Given the description of an element on the screen output the (x, y) to click on. 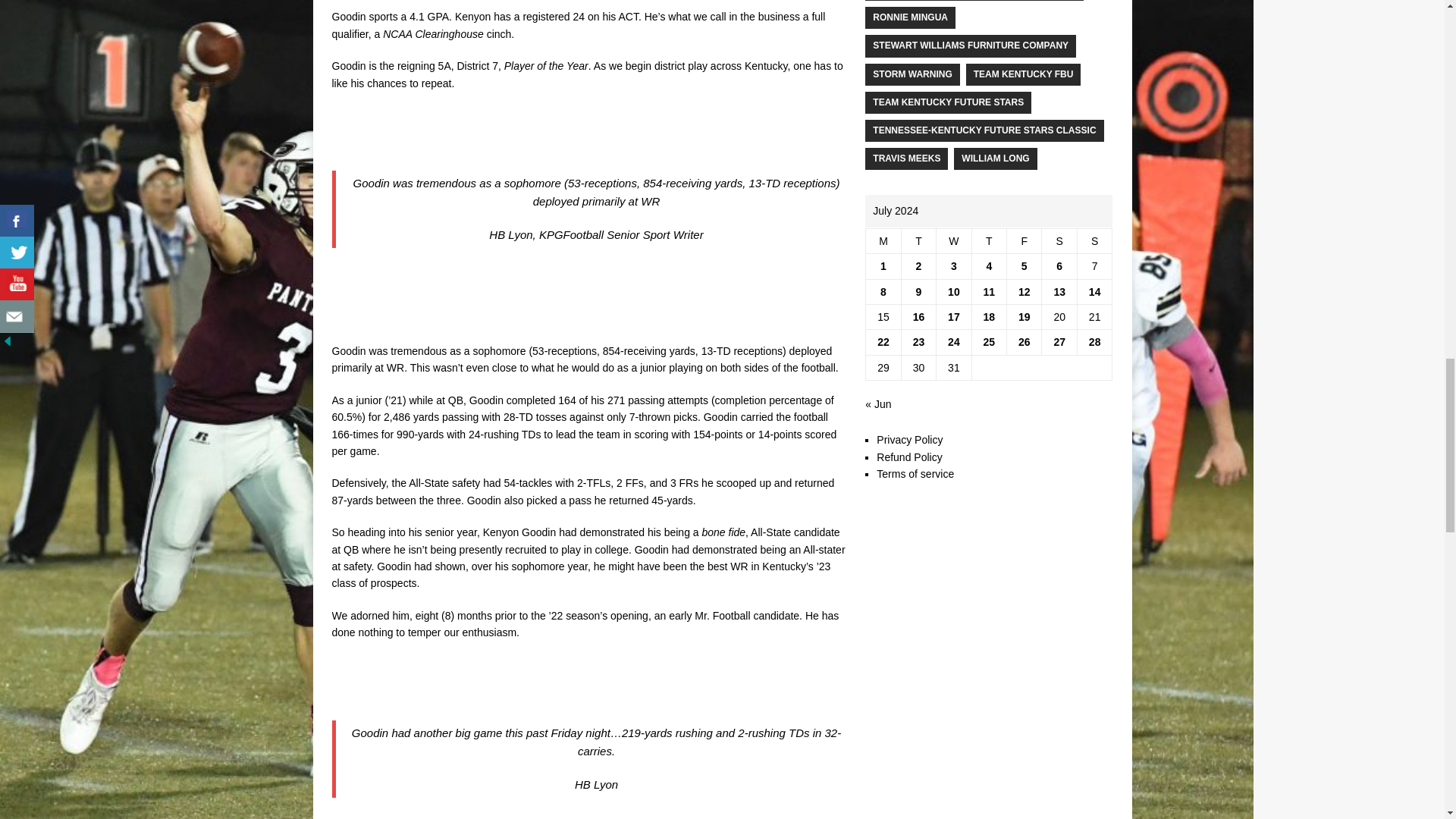
Tuesday (918, 240)
Saturday (1059, 240)
Monday (883, 240)
Friday (1024, 240)
Sunday (1094, 240)
Thursday (988, 240)
Wednesday (953, 240)
